Given the description of an element on the screen output the (x, y) to click on. 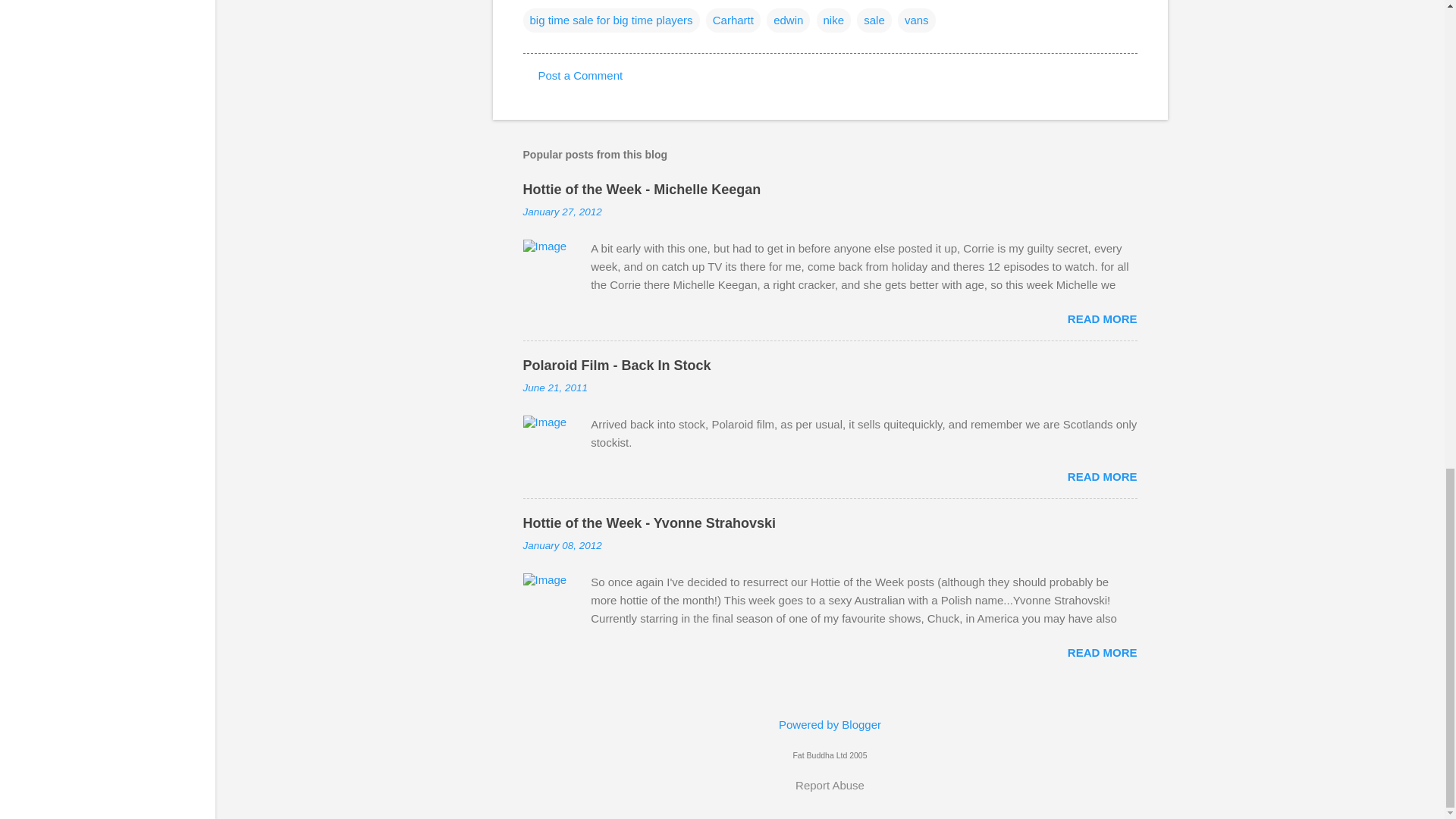
permanent link (562, 211)
READ MORE (1102, 318)
READ MORE (1102, 652)
nike (832, 19)
edwin (788, 19)
Polaroid Film - Back In Stock (616, 365)
January 27, 2012 (562, 211)
Post a Comment (580, 74)
sale (874, 19)
Report Abuse (829, 785)
big time sale for big time players (611, 19)
vans (917, 19)
January 08, 2012 (562, 545)
Hottie of the Week - Michelle Keegan (641, 189)
Hottie of the Week - Yvonne Strahovski (649, 522)
